Given the description of an element on the screen output the (x, y) to click on. 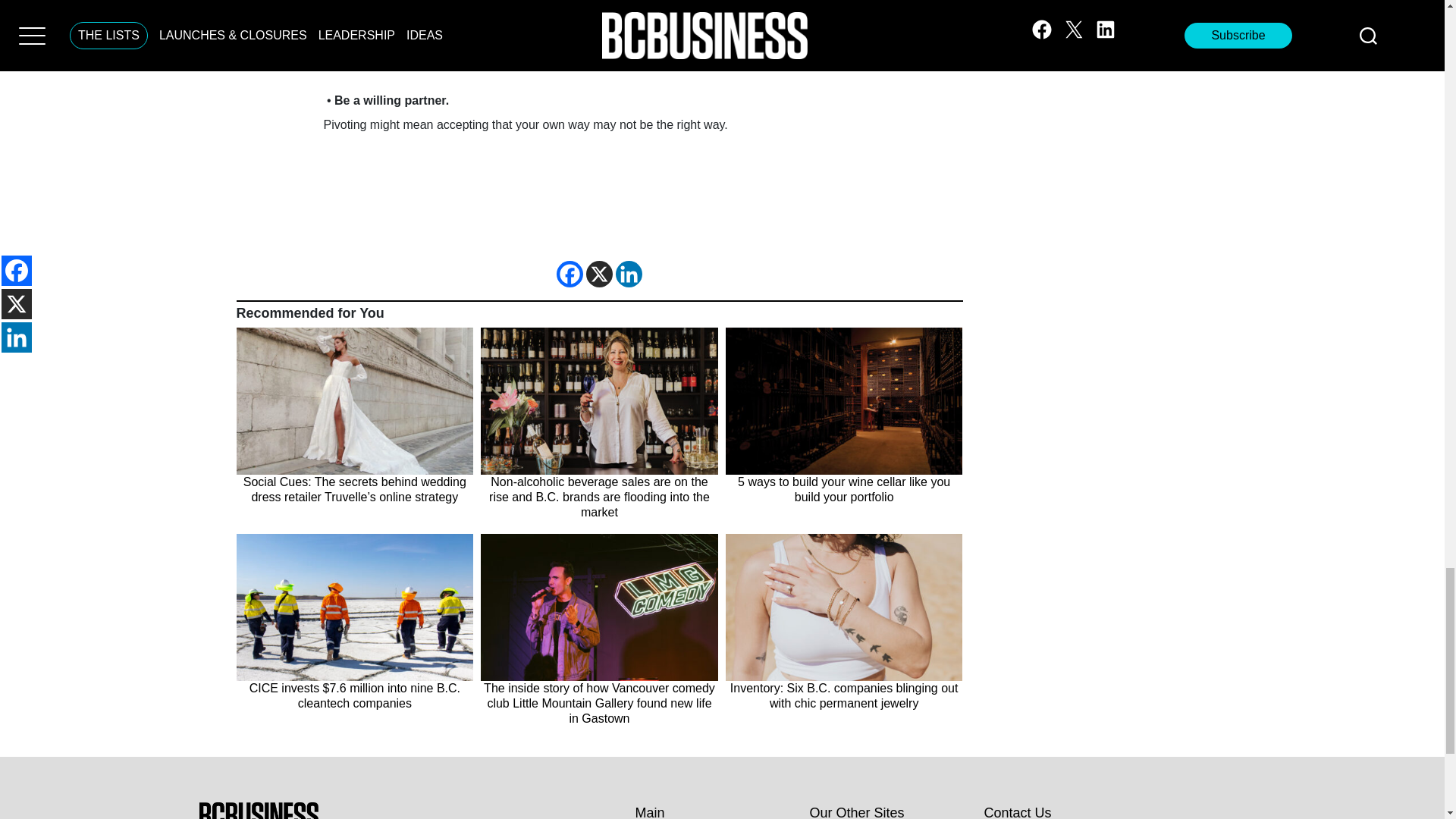
3rd party ad content (599, 201)
Linkedin (628, 274)
X (599, 274)
Facebook (569, 274)
